Given the description of an element on the screen output the (x, y) to click on. 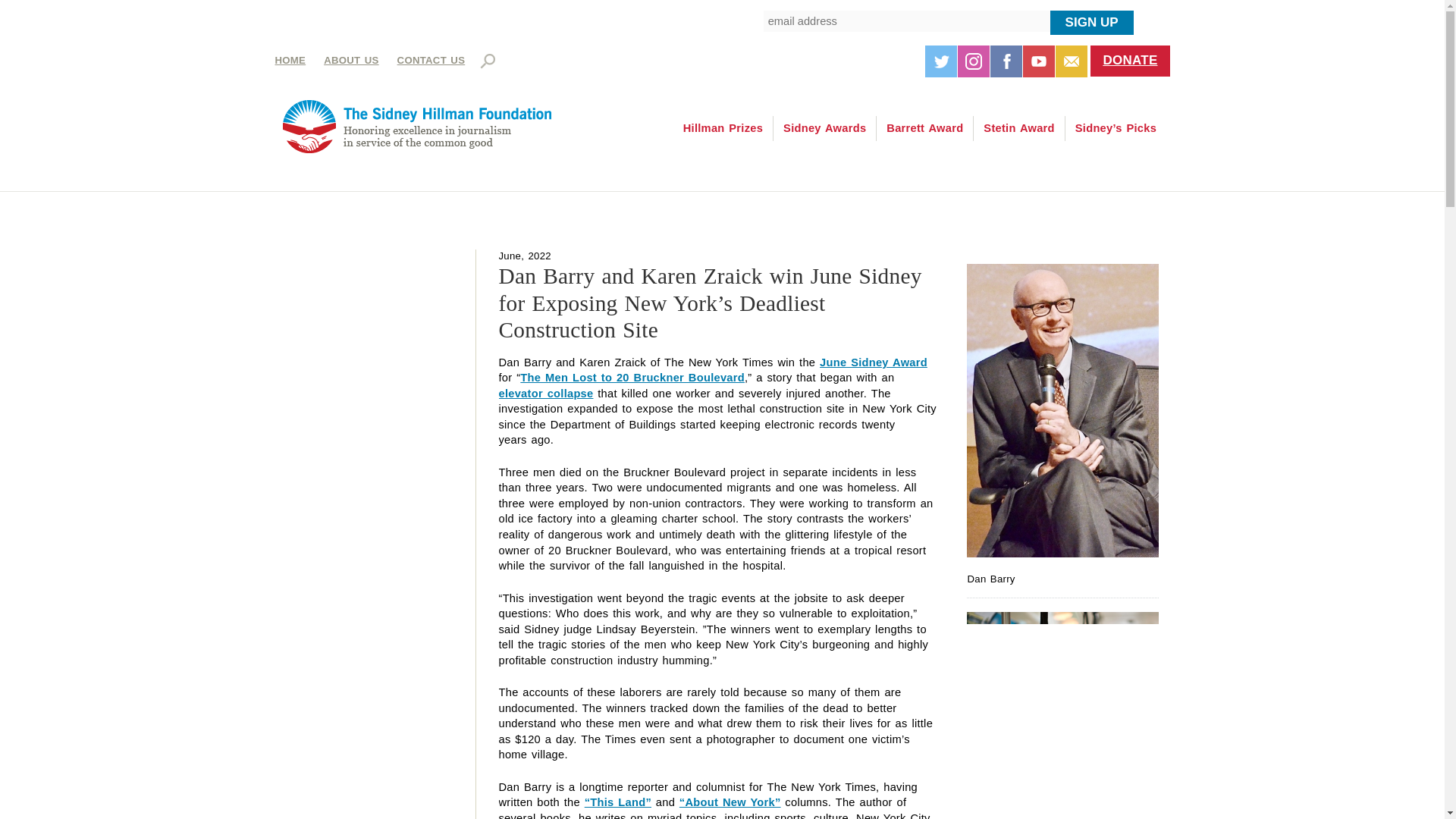
CONTACT US (431, 60)
Sidney Awards (824, 128)
Sign Up (1091, 22)
YouTube (1038, 60)
ABOUT US (350, 60)
Hillman Prizes (722, 128)
DONATE (1129, 60)
Sign Up (1091, 22)
Stetin Award (1019, 128)
